Given the description of an element on the screen output the (x, y) to click on. 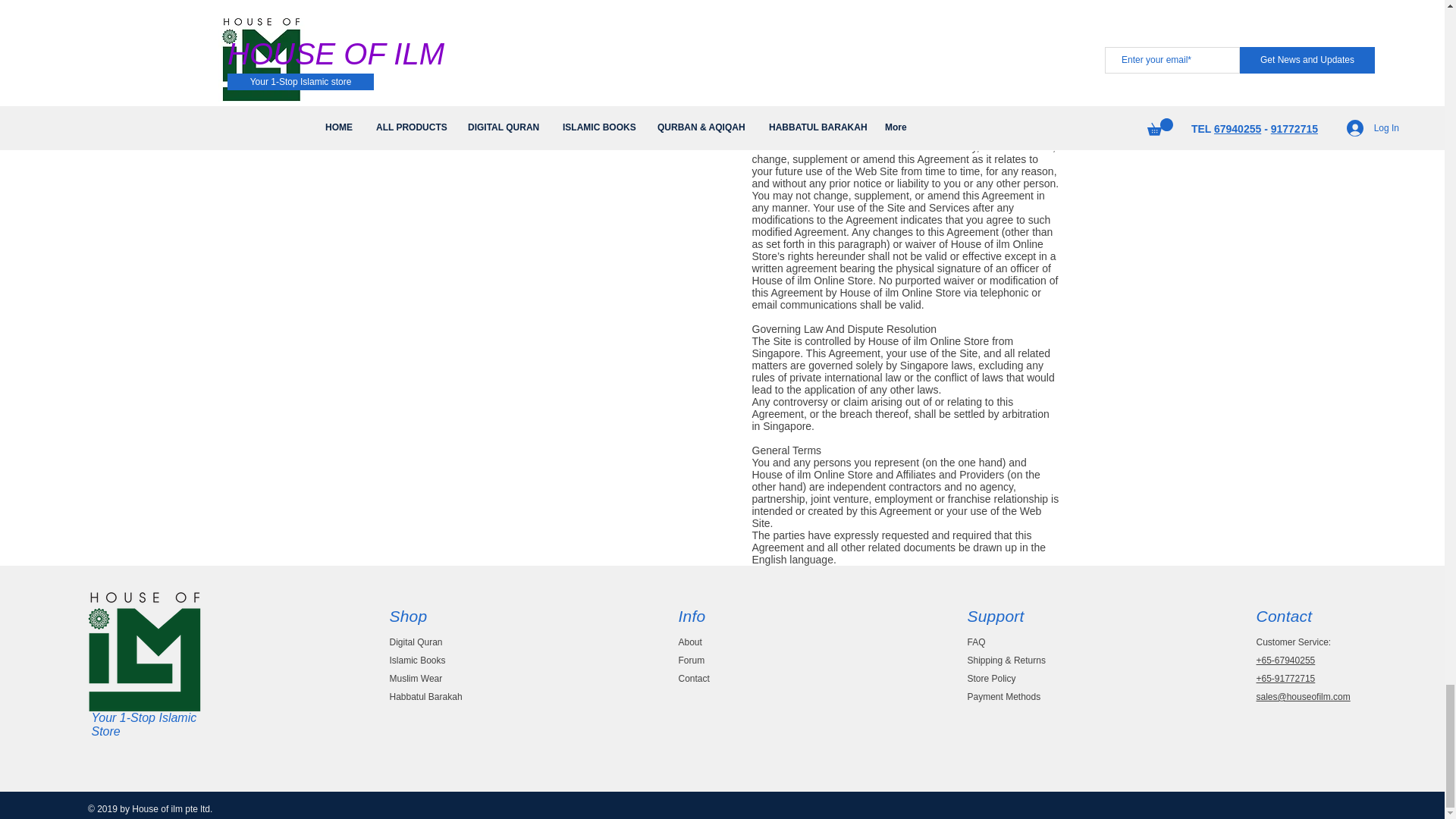
Payment Methods (1004, 696)
FAQ (976, 642)
Forum (691, 660)
About (689, 642)
Muslim Wear (416, 678)
Store Policy (992, 678)
Habbatul Barakah (426, 696)
Digital Quran (416, 642)
Islamic Books (417, 660)
Your 1-Stop Islamic Store (143, 724)
Contact (693, 678)
